Given the description of an element on the screen output the (x, y) to click on. 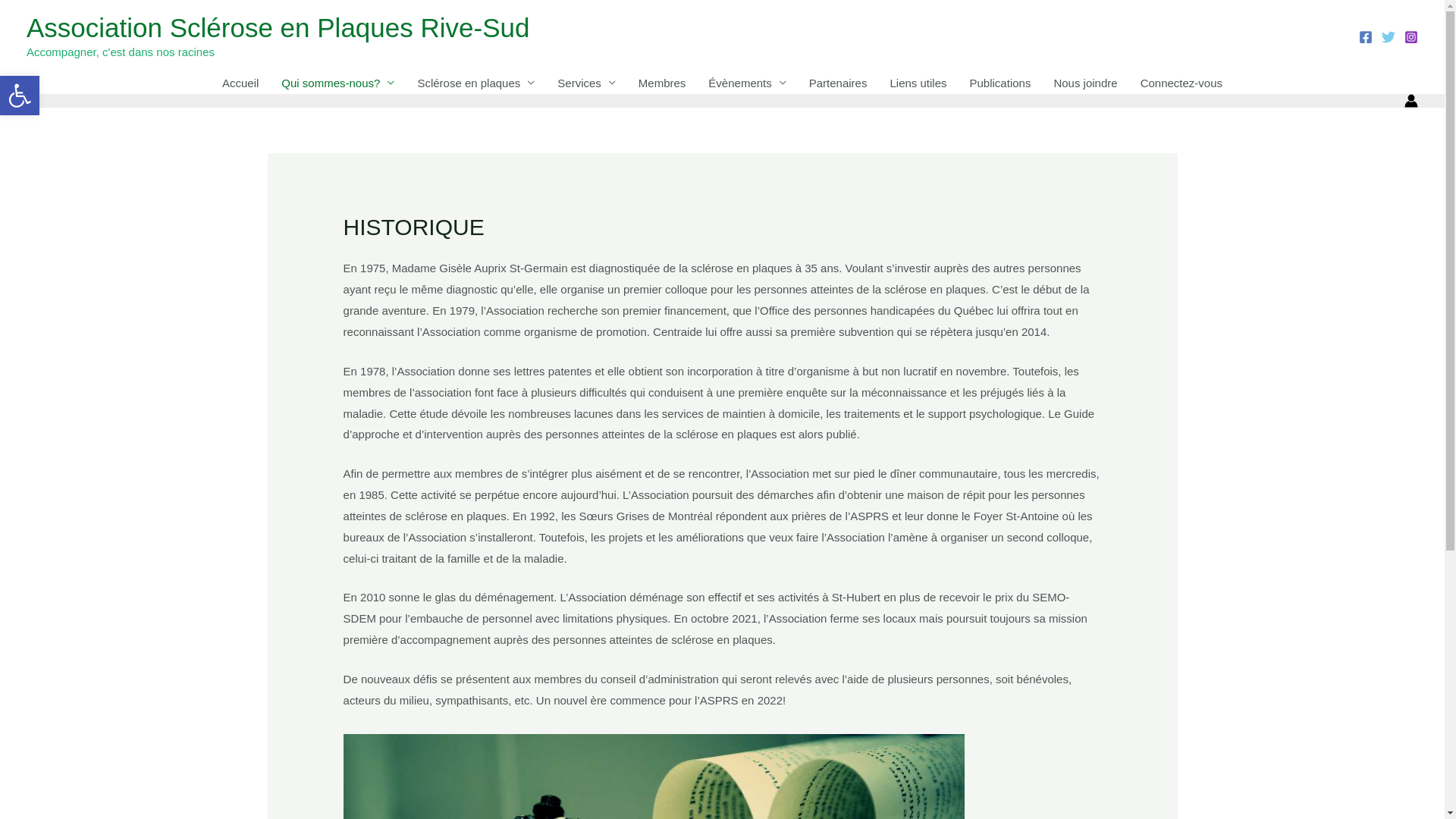
Liens utiles Element type: text (917, 83)
Membres Element type: text (662, 83)
Publications Element type: text (1000, 83)
Connectez-vous Element type: text (1181, 83)
Qui sommes-nous? Element type: text (337, 83)
Partenaires Element type: text (837, 83)
Nous joindre Element type: text (1084, 83)
Services Element type: text (586, 83)
Accueil Element type: text (239, 83)
